Given the description of an element on the screen output the (x, y) to click on. 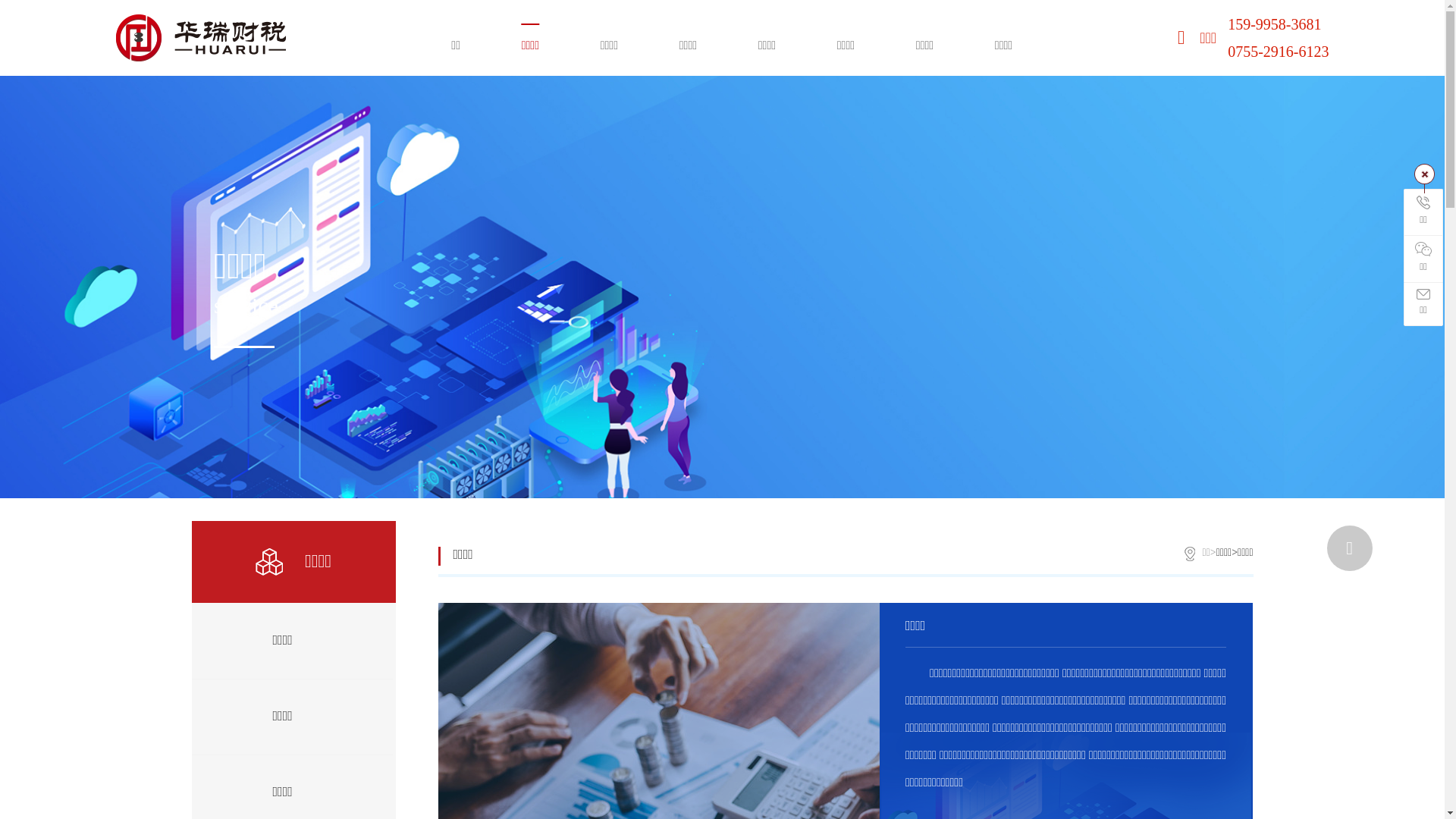
Top Element type: hover (1349, 548)
